Given the description of an element on the screen output the (x, y) to click on. 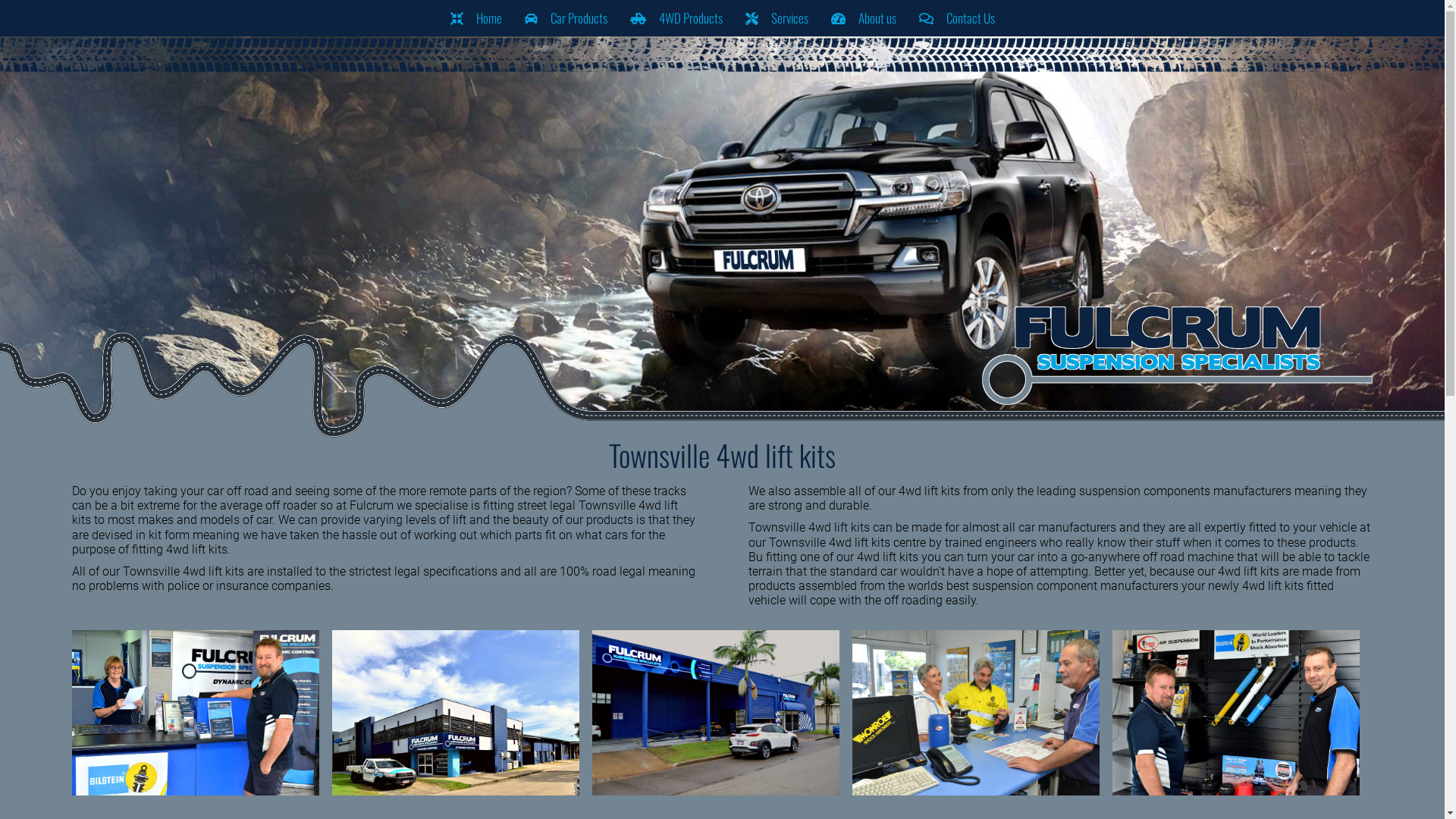
Car Products Element type: text (565, 18)
Home Element type: text (475, 18)
About us Element type: text (862, 18)
Contact Us Element type: text (955, 18)
Services Element type: text (776, 18)
4WD Products Element type: text (676, 18)
